Given the description of an element on the screen output the (x, y) to click on. 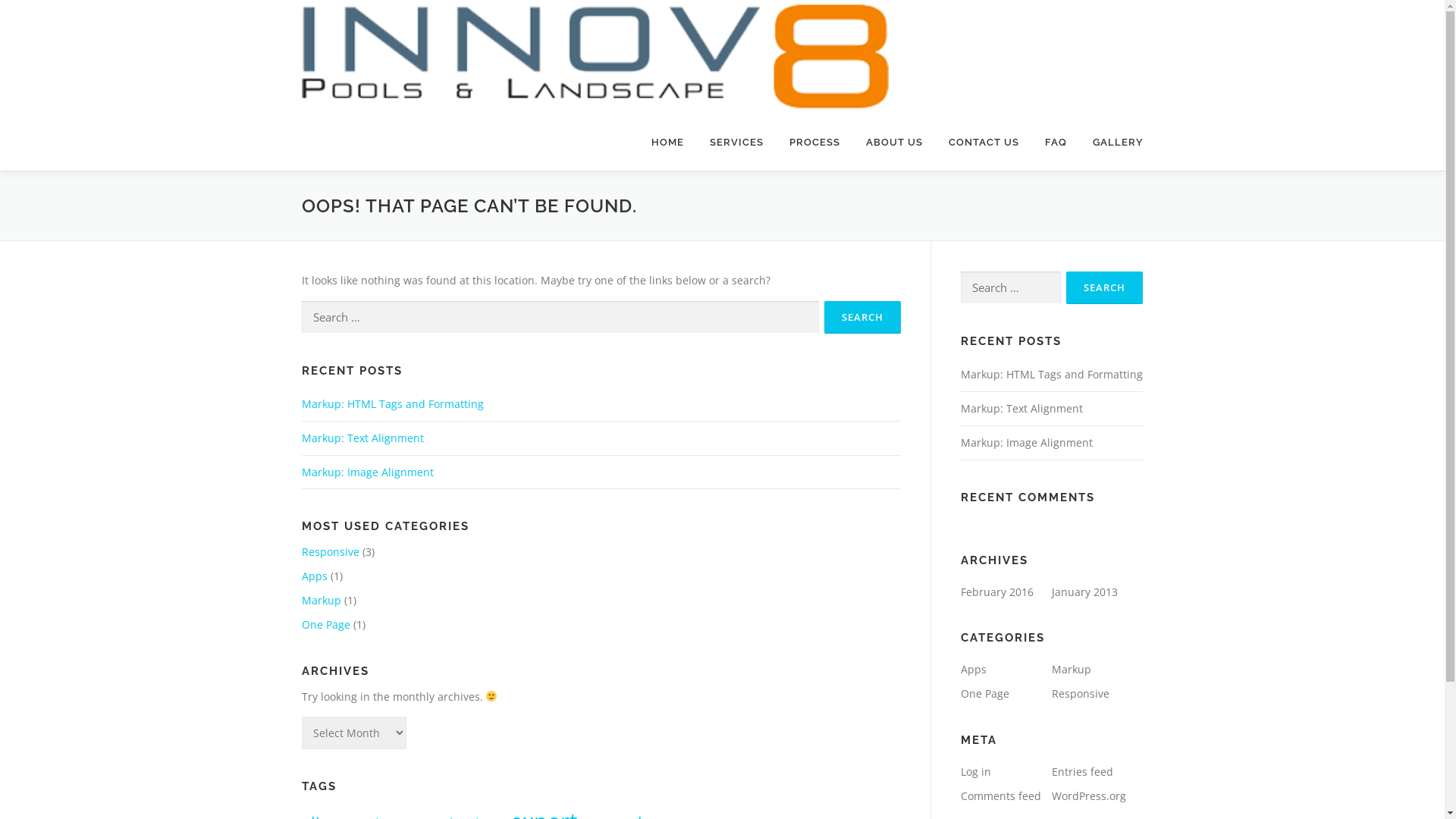
Log in Element type: text (975, 771)
Markup: Text Alignment Element type: text (1021, 408)
February 2016 Element type: text (996, 591)
Comments feed Element type: text (1000, 795)
WordPress.org Element type: text (1088, 795)
Markup: HTML Tags and Formatting Element type: text (392, 403)
Markup: Text Alignment Element type: text (362, 437)
Markup: Image Alignment Element type: text (367, 471)
Entries feed Element type: text (1081, 771)
One Page Element type: text (325, 624)
HOME Element type: text (667, 141)
GALLERY Element type: text (1111, 141)
Apps Element type: text (314, 575)
Markup: HTML Tags and Formatting Element type: text (1051, 374)
PROCESS Element type: text (814, 141)
SERVICES Element type: text (735, 141)
Responsive Element type: text (1079, 693)
Search Element type: text (861, 317)
January 2013 Element type: text (1084, 591)
Markup Element type: text (321, 600)
Markup: Image Alignment Element type: text (1026, 442)
ABOUT US Element type: text (893, 141)
Responsive Element type: text (330, 551)
FAQ Element type: text (1055, 141)
CONTACT US Element type: text (983, 141)
One Page Element type: text (984, 693)
Markup Element type: text (1070, 669)
Search Element type: text (1104, 287)
Apps Element type: text (972, 669)
